Given the description of an element on the screen output the (x, y) to click on. 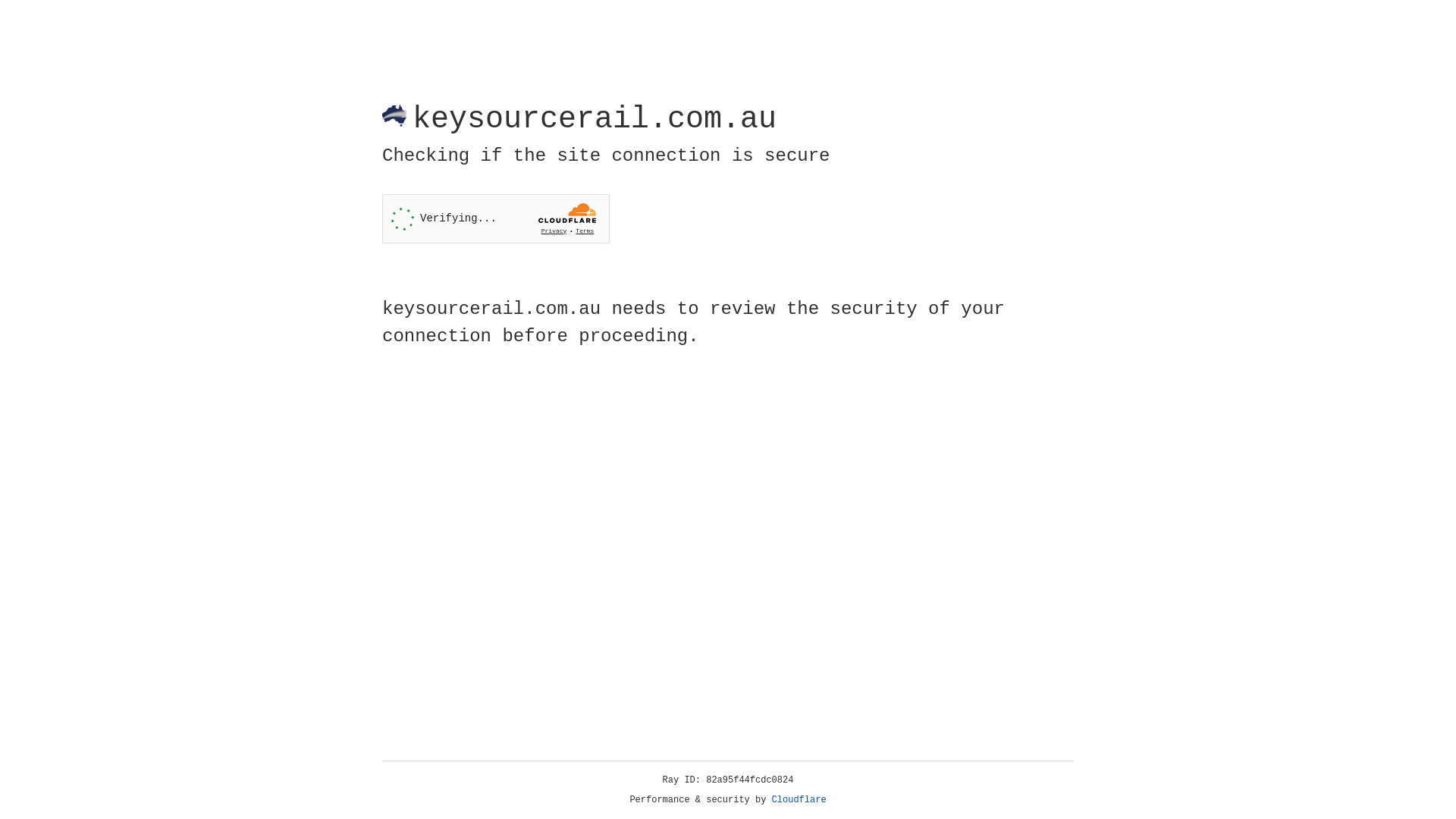
Cloudflare Element type: text (798, 799)
Widget containing a Cloudflare security challenge Element type: hover (495, 218)
